Given the description of an element on the screen output the (x, y) to click on. 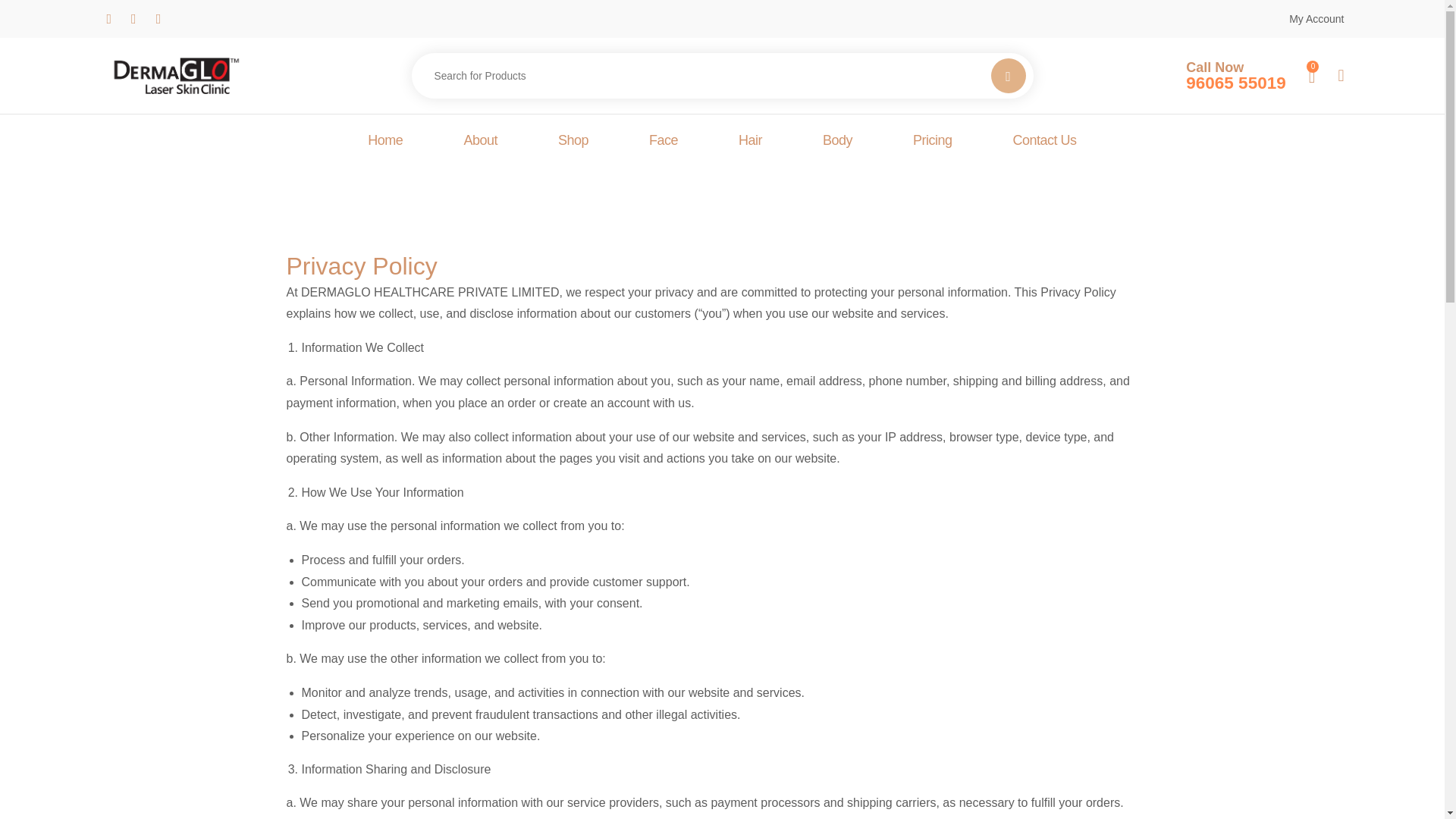
Face (662, 140)
Hair (749, 140)
About (1235, 75)
Home (479, 140)
Body (384, 140)
Shop (837, 140)
